Given the description of an element on the screen output the (x, y) to click on. 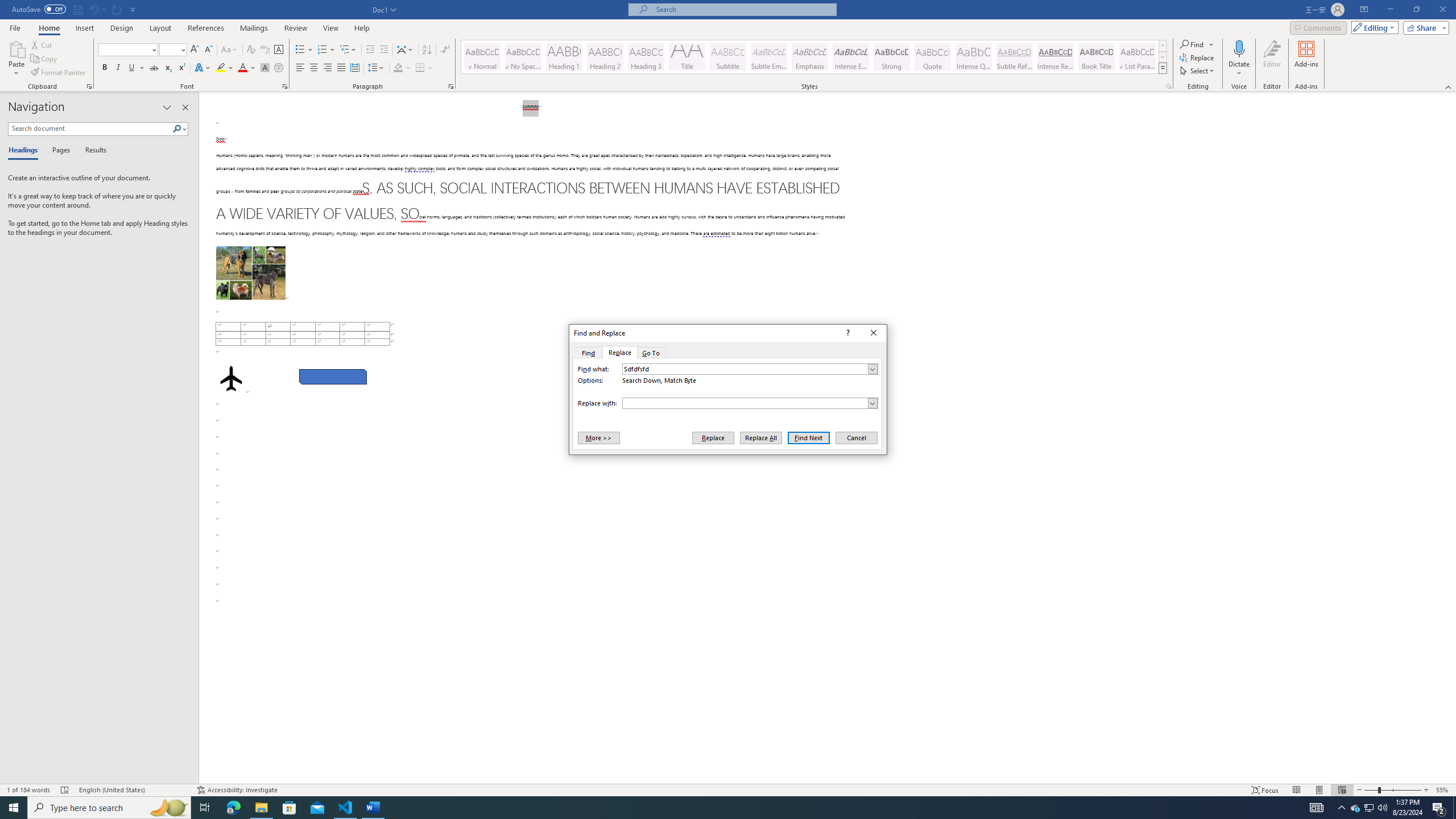
Replace... (1197, 56)
Results (91, 150)
Quote (932, 56)
Subtle Reference (1014, 56)
Type here to search (108, 807)
